Given the description of an element on the screen output the (x, y) to click on. 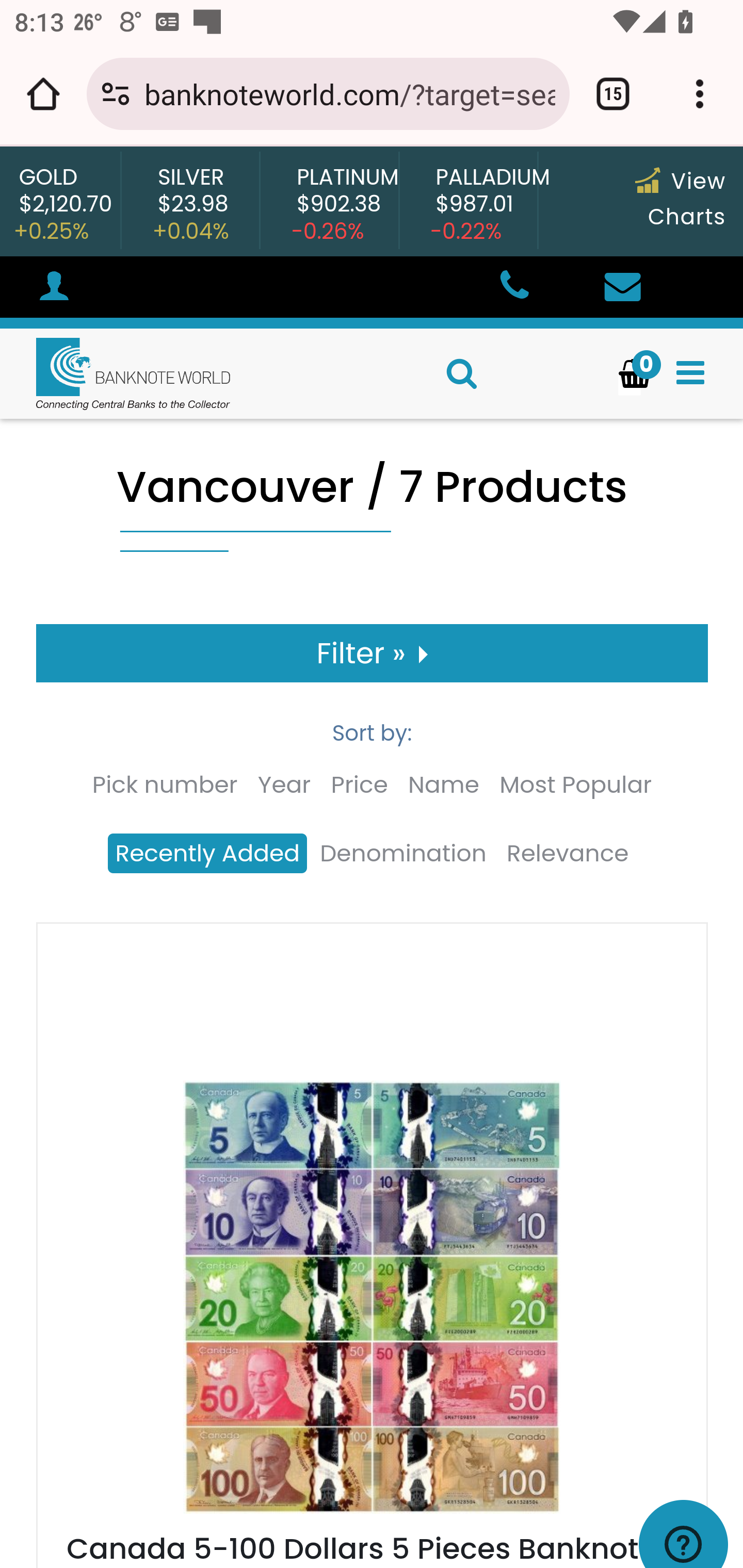
Open the home page (43, 93)
Connection is secure (115, 93)
Switch or close tabs (612, 93)
Customize and control Google Chrome (699, 93)
View Charts (680, 199)
 (513, 287)
 (622, 287)
# (54, 289)
Home (115, 373)
 (690, 373)
Filter »  (372, 652)
Pick number (164, 784)
Year (283, 784)
Price (359, 784)
Name (444, 784)
Most Popular (576, 784)
Recently Added (206, 853)
Denomination (403, 853)
Relevance (567, 853)
